Given the description of an element on the screen output the (x, y) to click on. 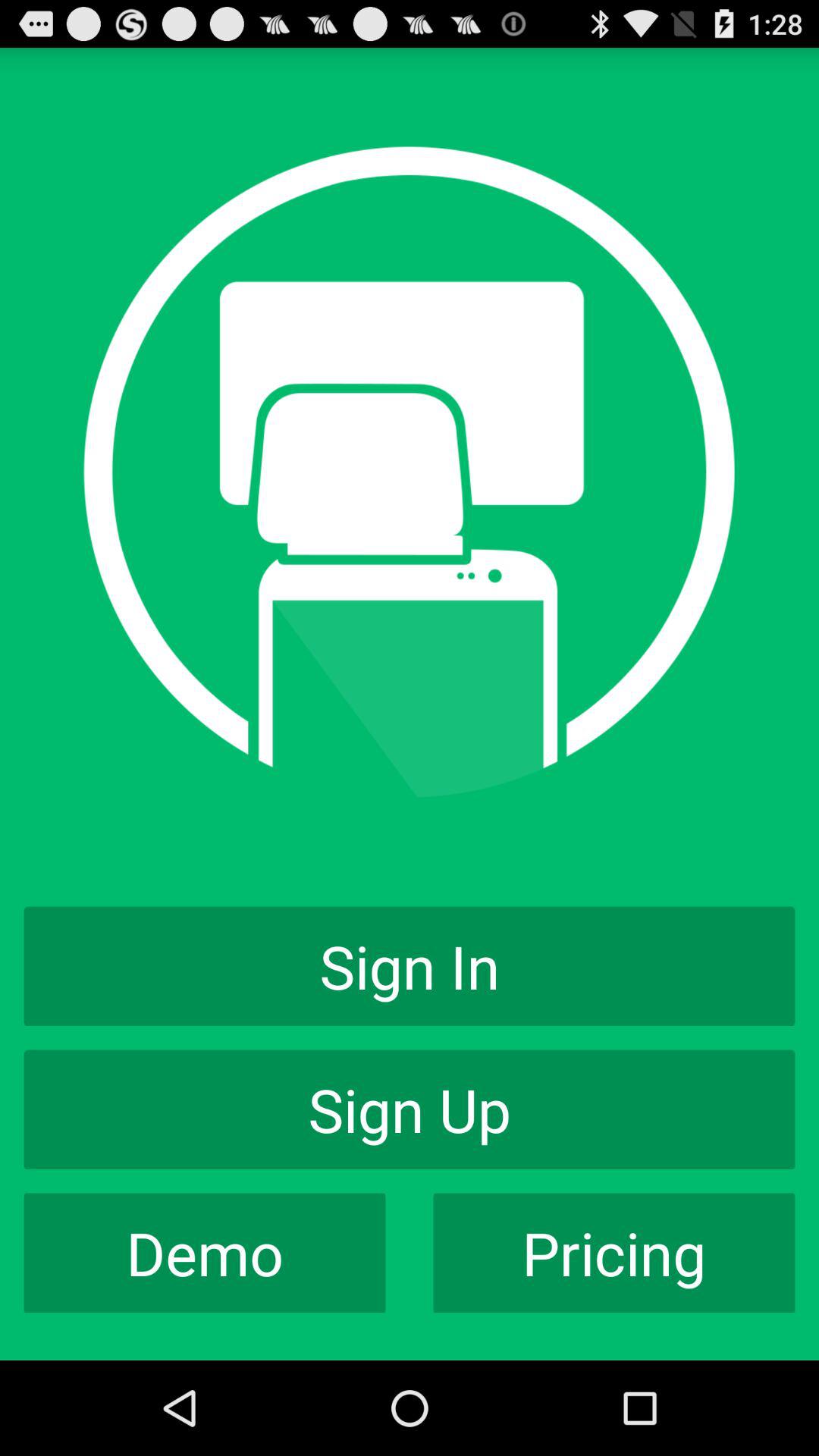
turn off item above the sign up item (409, 966)
